Given the description of an element on the screen output the (x, y) to click on. 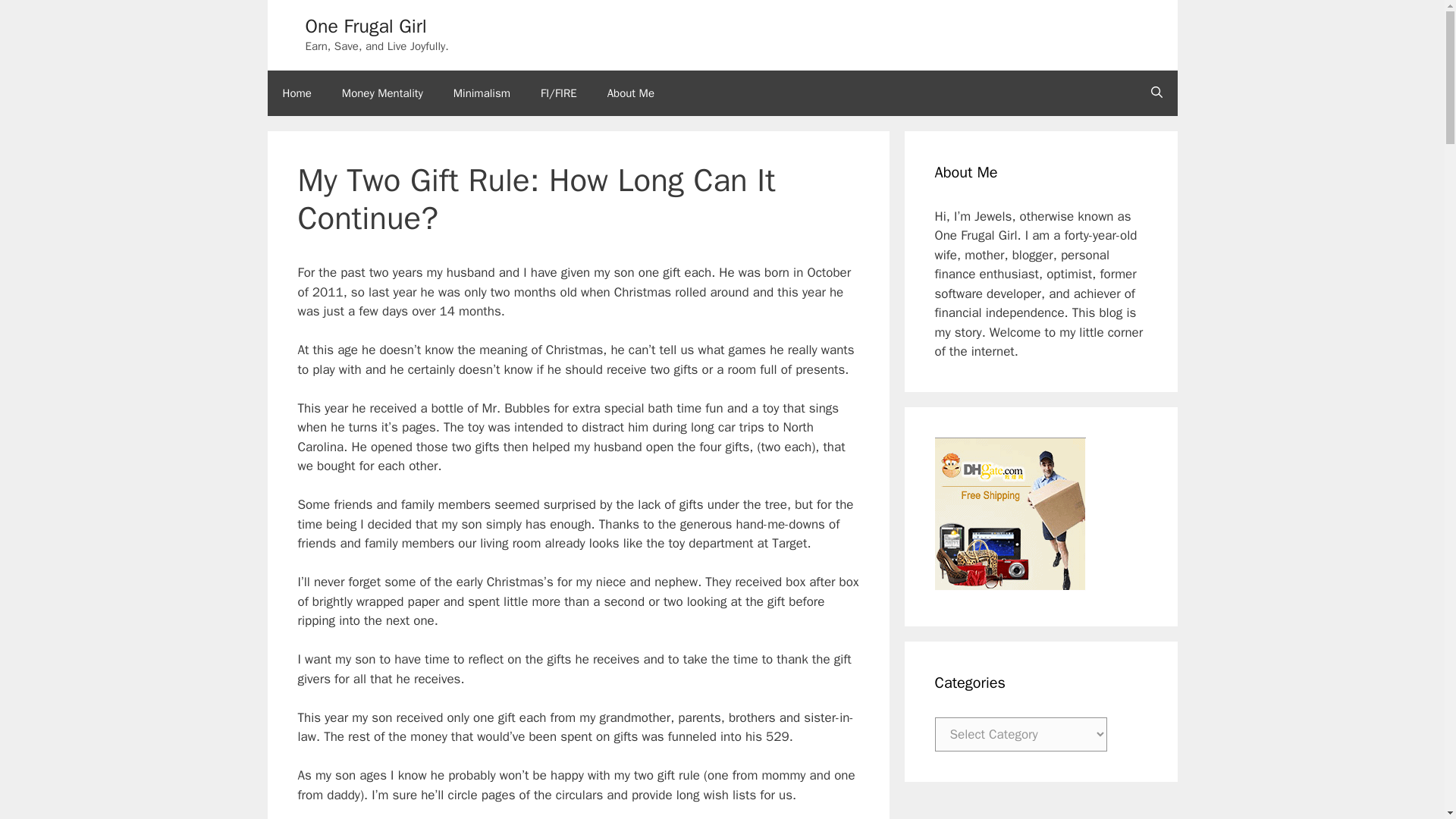
Home (296, 92)
Money Mentality (382, 92)
One Frugal Girl (365, 25)
About Me (630, 92)
Minimalism (481, 92)
